Given the description of an element on the screen output the (x, y) to click on. 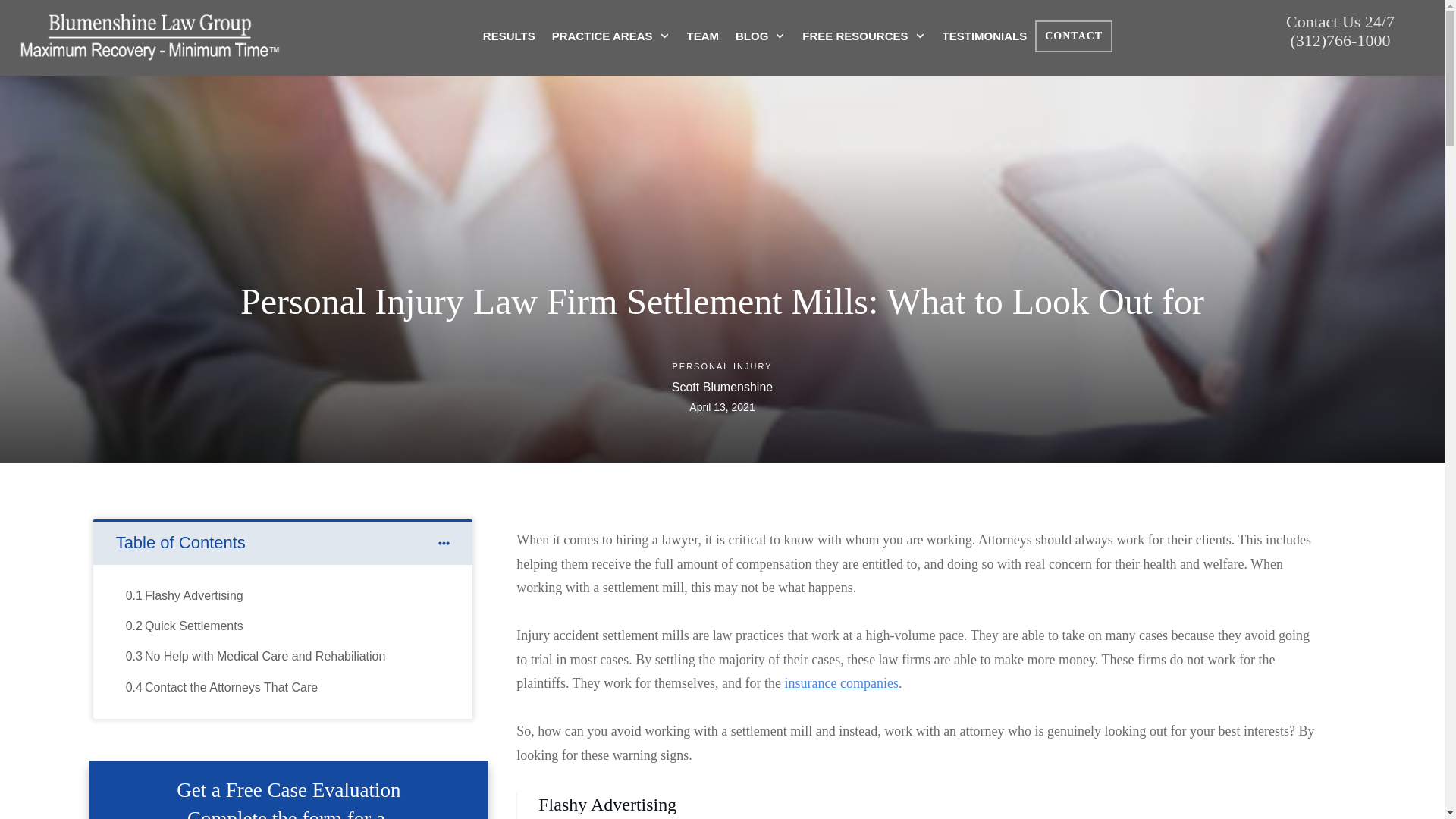
RESULTS (509, 36)
Quick Settlements (193, 626)
0.3 (133, 656)
Flashy Advertising (193, 596)
PRACTICE AREAS (610, 36)
No Help with Medical Care and Rehabiliation (264, 656)
Quick Settlements (193, 626)
0.4 (133, 687)
No Help with Medical Care and Rehabiliation (264, 656)
PERSONAL INJURY (721, 366)
BLOG (760, 36)
Personal Injury (721, 366)
FREE RESOURCES (863, 36)
TEAM (703, 36)
